Given the description of an element on the screen output the (x, y) to click on. 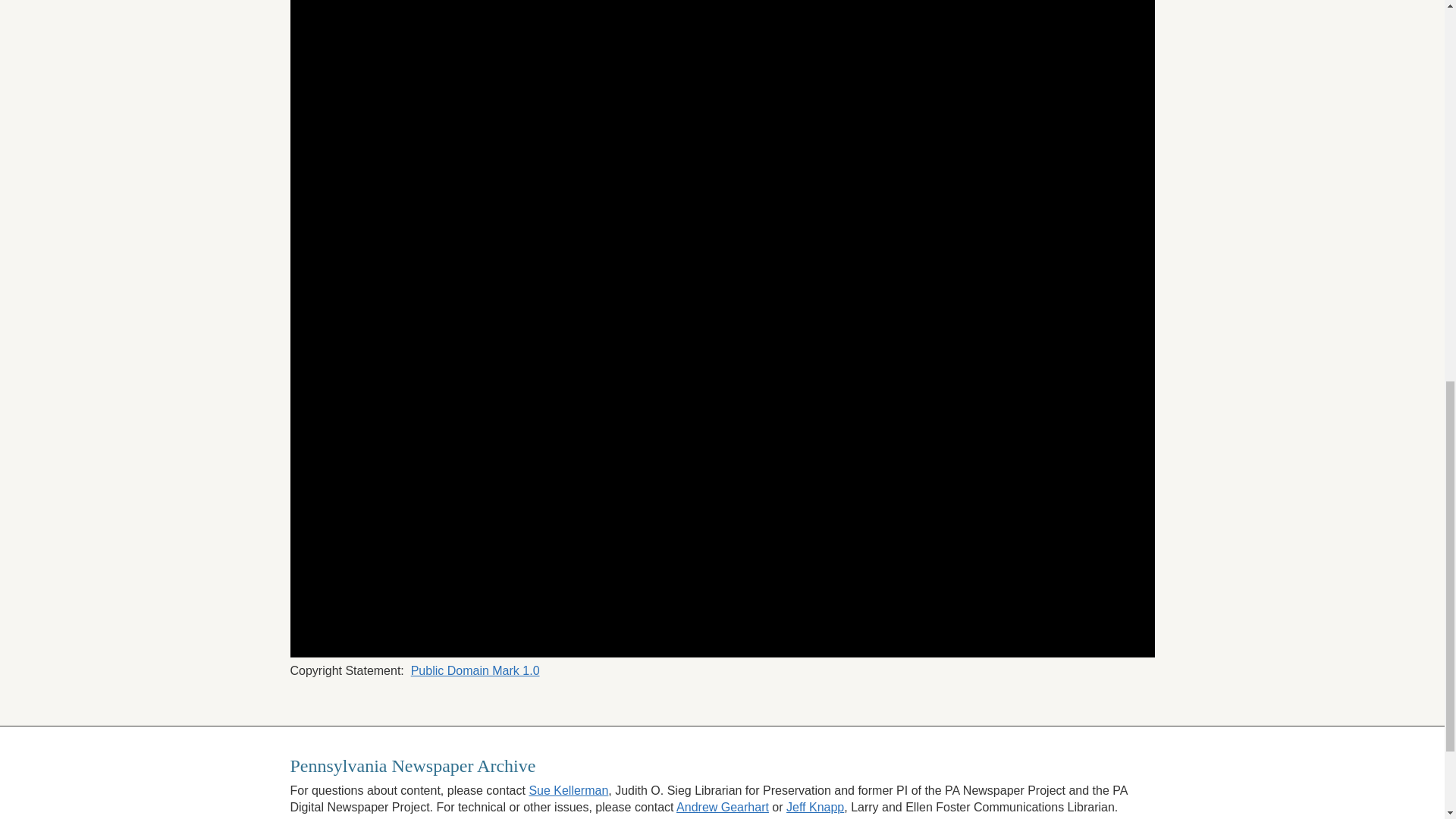
Andrew Gearhart (722, 807)
Sue Kellerman (568, 789)
Jeff Knapp (815, 807)
Public Domain Mark 1.0 (475, 670)
